Given the description of an element on the screen output the (x, y) to click on. 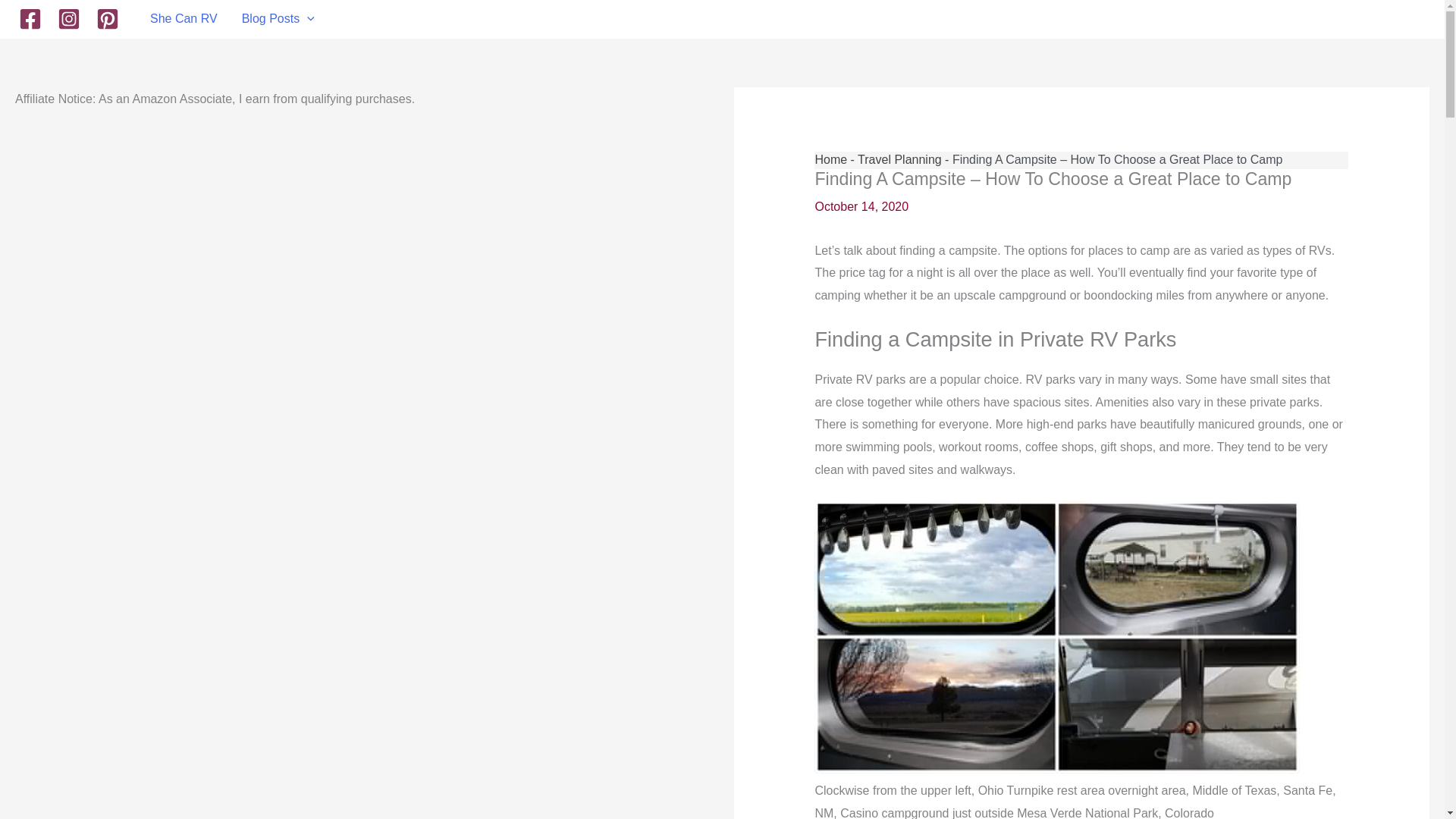
Blog Posts (278, 18)
She Can RV (184, 18)
Home (830, 159)
Travel Planning (899, 159)
